Given the description of an element on the screen output the (x, y) to click on. 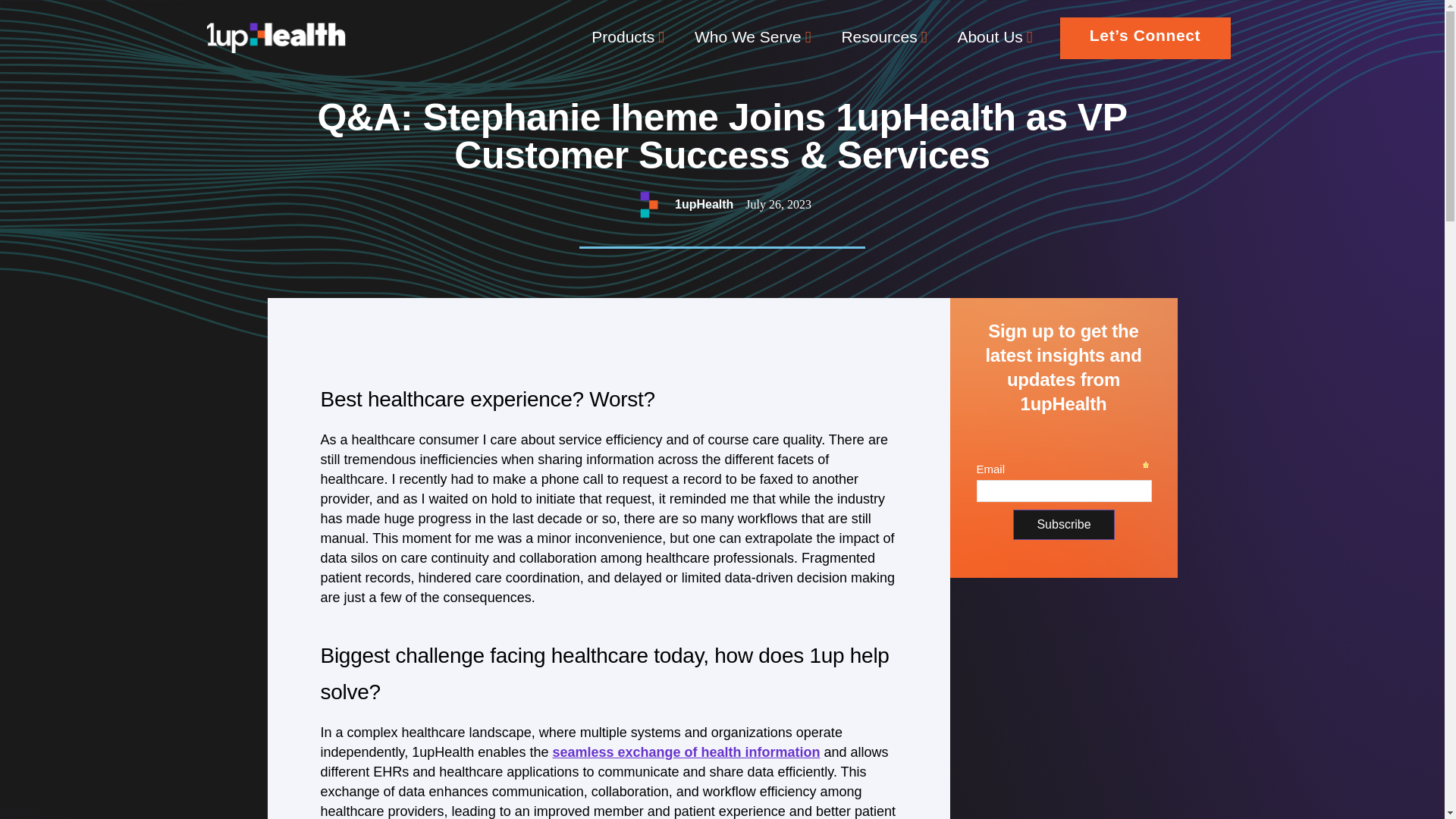
Products (627, 36)
1upHealth Logo (275, 37)
About Us (994, 36)
Resources (883, 36)
Who We Serve (753, 36)
